Given the description of an element on the screen output the (x, y) to click on. 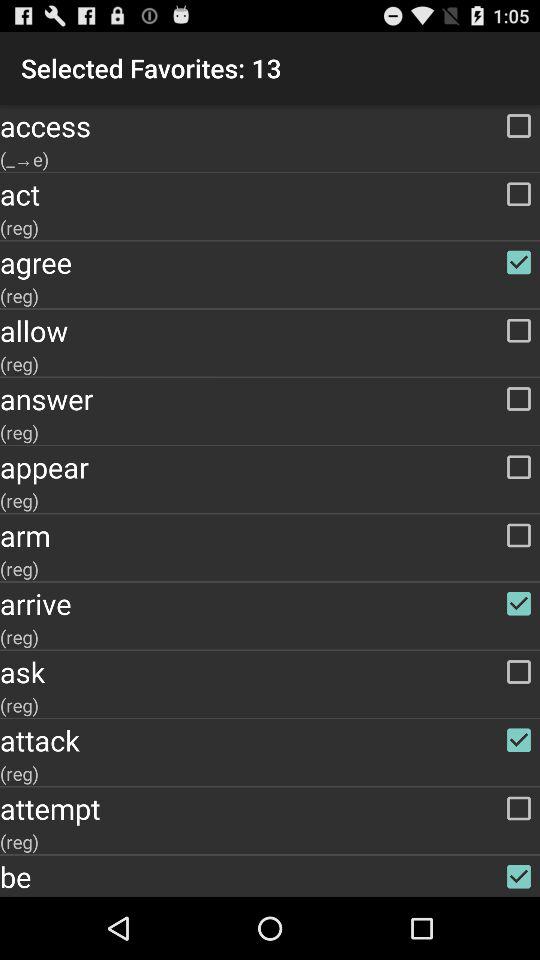
swipe to the arrive checkbox (270, 603)
